Given the description of an element on the screen output the (x, y) to click on. 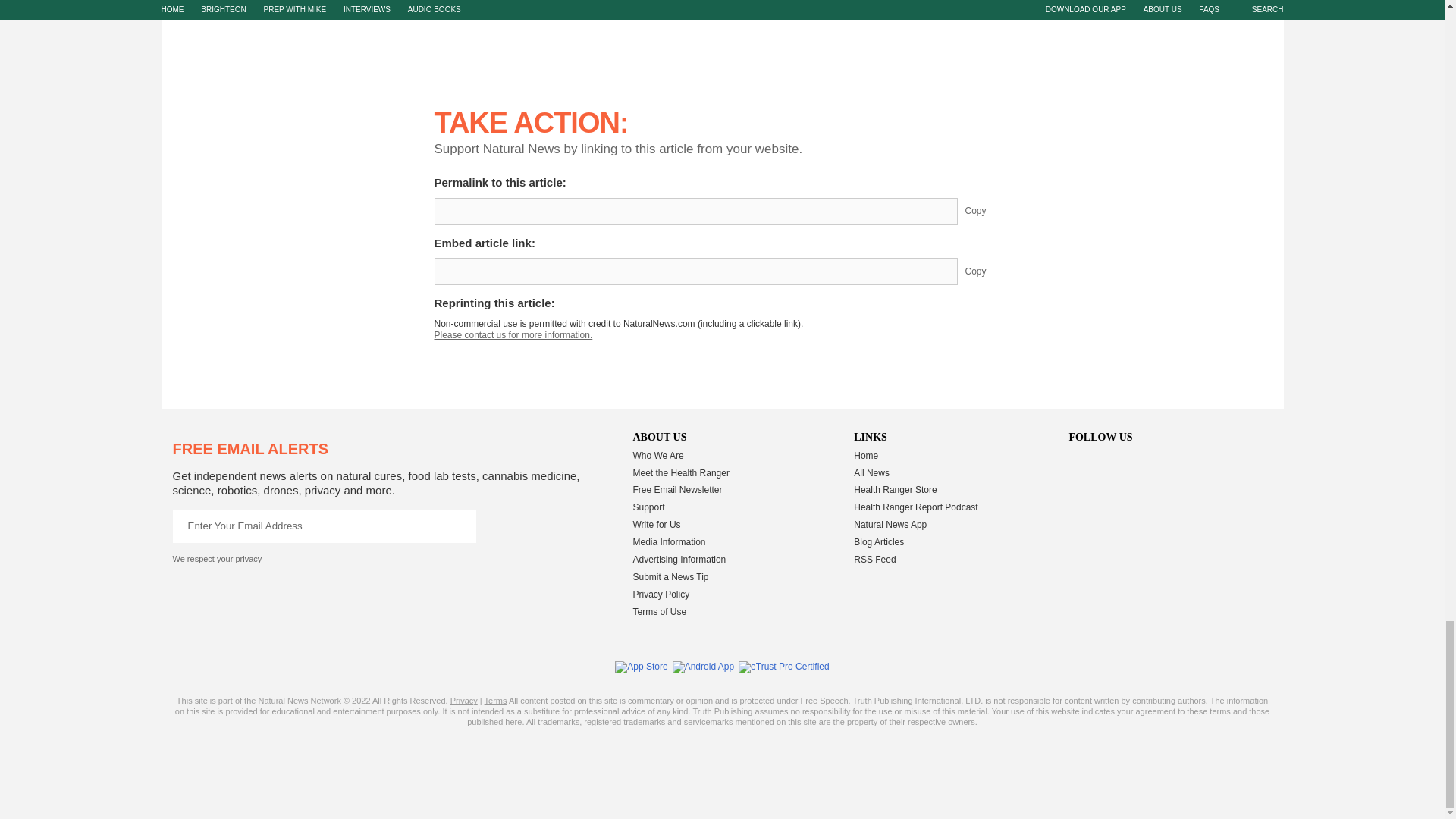
Copy Embed Link (986, 271)
eTrust Pro Certified (783, 666)
Continue (459, 525)
Copy Permalink (986, 211)
